Given the description of an element on the screen output the (x, y) to click on. 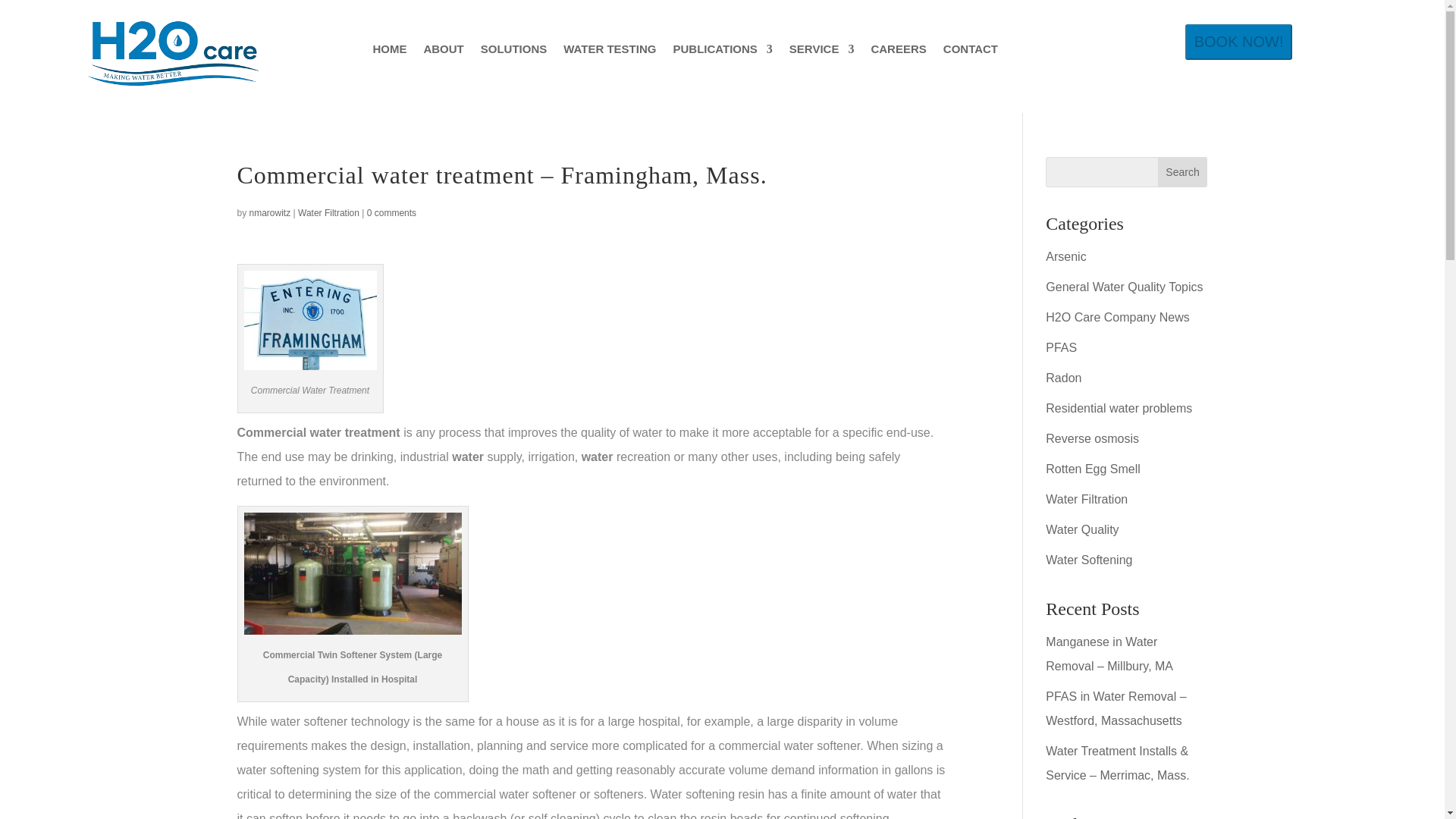
Water Filtration (328, 213)
WATER TESTING (609, 52)
Posts by nmarowitz (269, 213)
SOLUTIONS (513, 52)
nmarowitz (269, 213)
SERVICE (821, 52)
0 comments (391, 213)
BOOK NOW! (1238, 41)
ABOUT (443, 52)
CONTACT (970, 52)
CAREERS (898, 52)
HOME (389, 52)
PUBLICATIONS (721, 52)
Search (1182, 172)
H2o Care Logo 24 (172, 54)
